Given the description of an element on the screen output the (x, y) to click on. 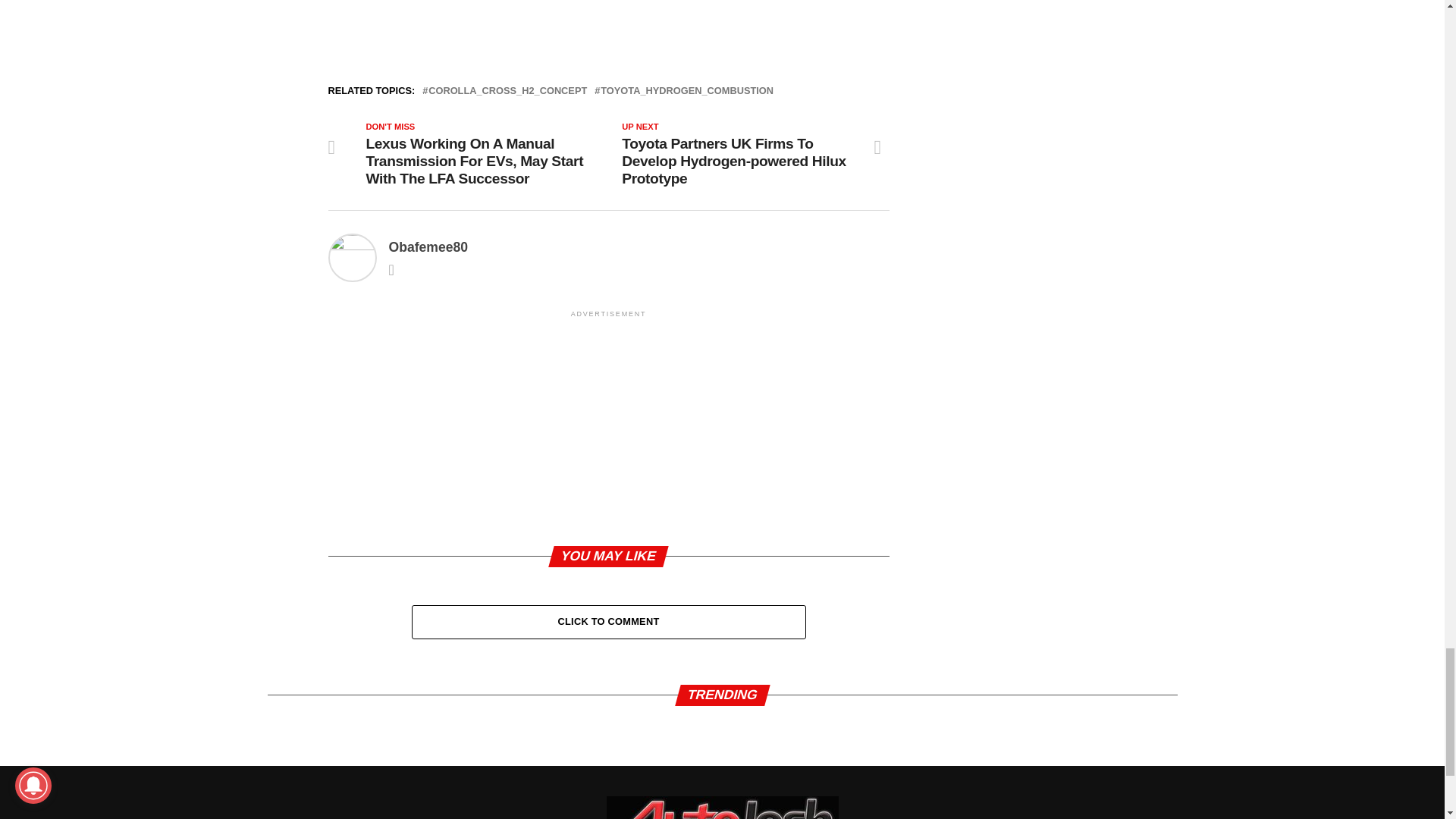
Posts by Obafemee80 (427, 246)
